Given the description of an element on the screen output the (x, y) to click on. 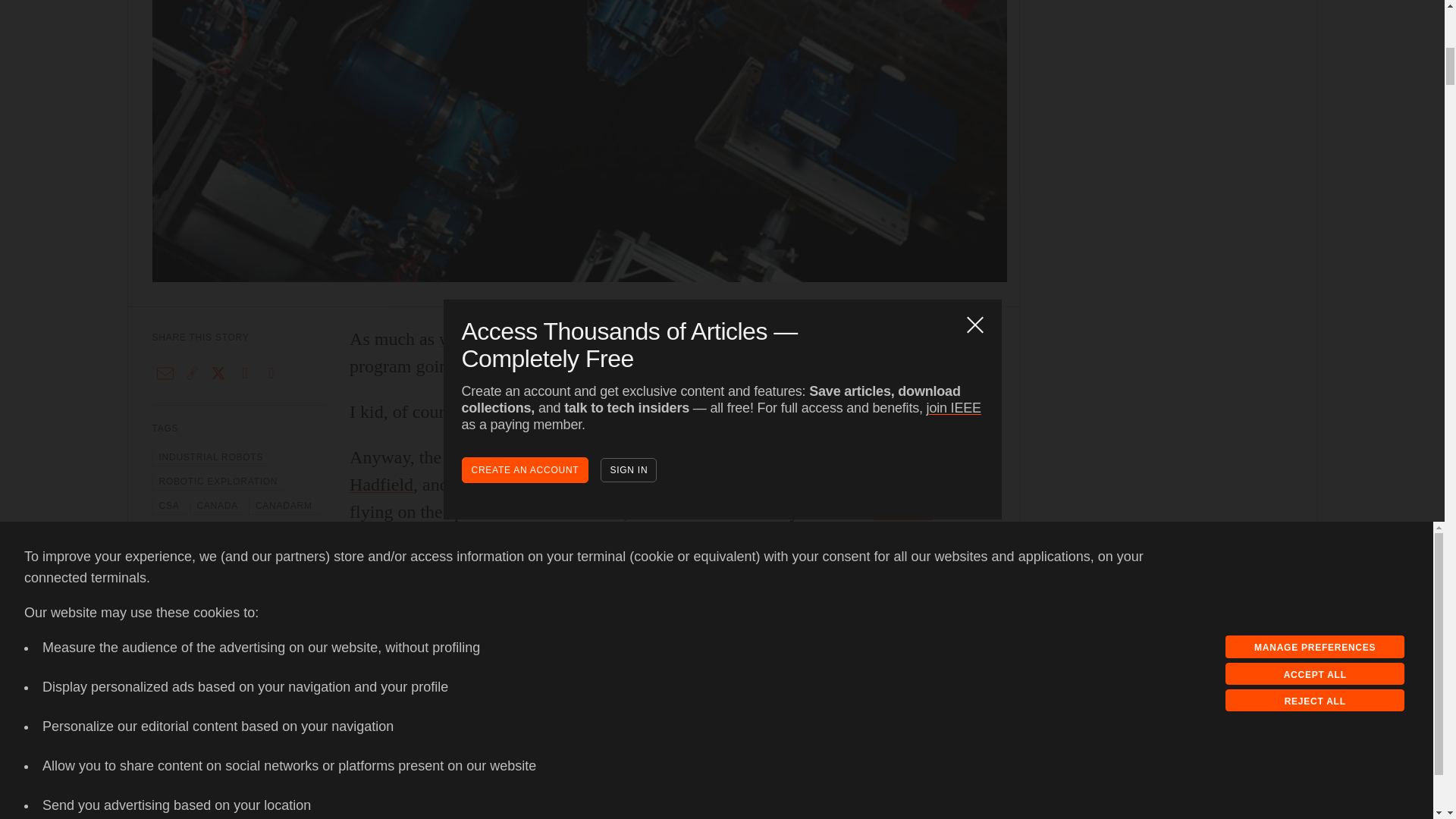
Copy this link to clipboard (192, 373)
Privacy Policy (66, 29)
